Given the description of an element on the screen output the (x, y) to click on. 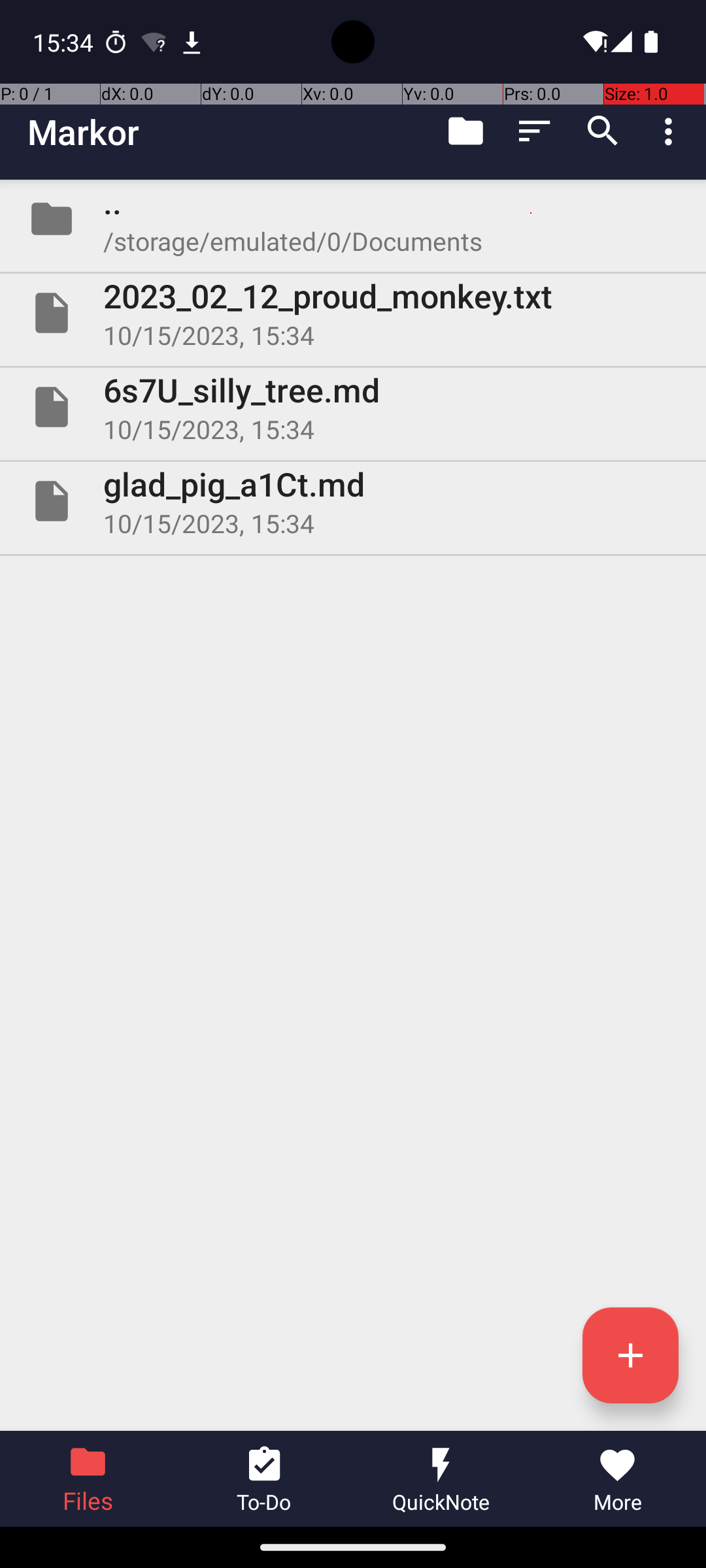
File 2023_02_12_proud_monkey.txt  Element type: android.widget.LinearLayout (353, 312)
File 6s7U_silly_tree.md  Element type: android.widget.LinearLayout (353, 406)
File glad_pig_a1Ct.md  Element type: android.widget.LinearLayout (353, 500)
